Given the description of an element on the screen output the (x, y) to click on. 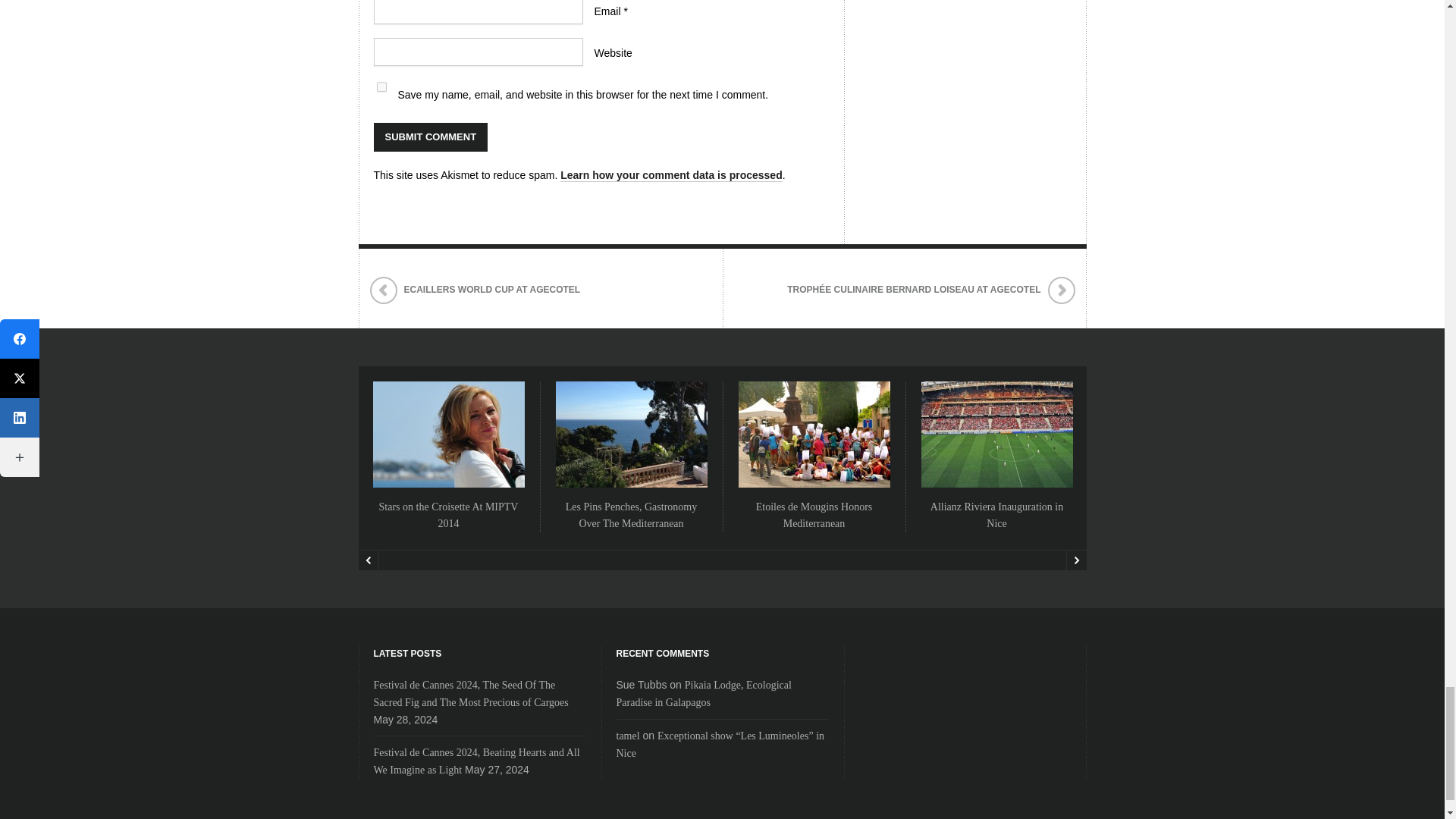
Permanent Link to Stars on the Croisette At MIPTV 2014 (448, 515)
yes (380, 86)
Permanent Link to Etoiles de Mougins Honors Mediterranean (813, 515)
Submit Comment (429, 136)
Submit Comment (429, 136)
Permanent Link to Allianz Riviera Inauguration in Nice (996, 515)
Learn how your comment data is processed (671, 174)
